Given the description of an element on the screen output the (x, y) to click on. 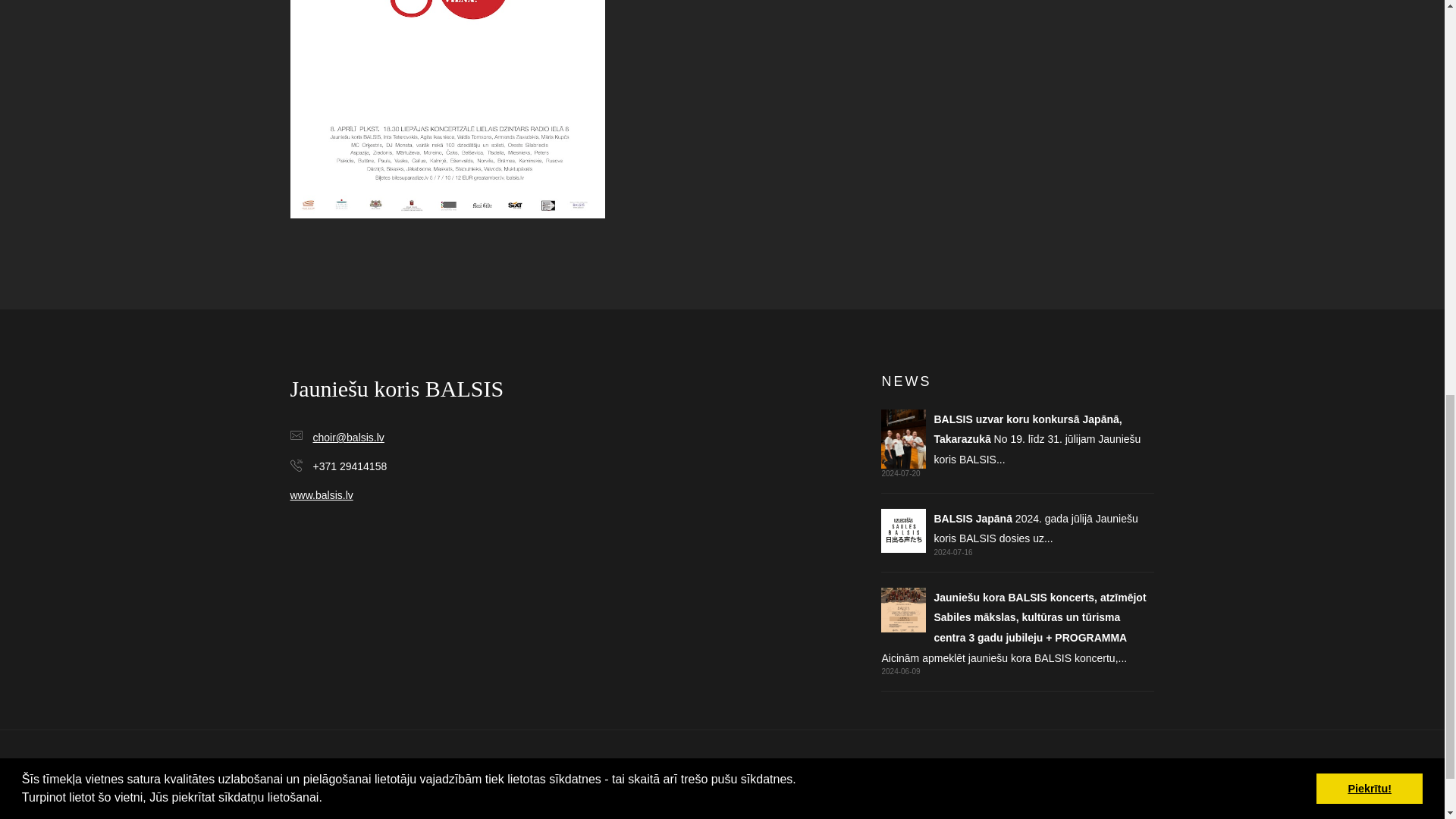
www.balsis.lv (320, 494)
Ziedojumu apmaksas noteikumi (721, 792)
Websoft.lv (748, 813)
